Given the description of an element on the screen output the (x, y) to click on. 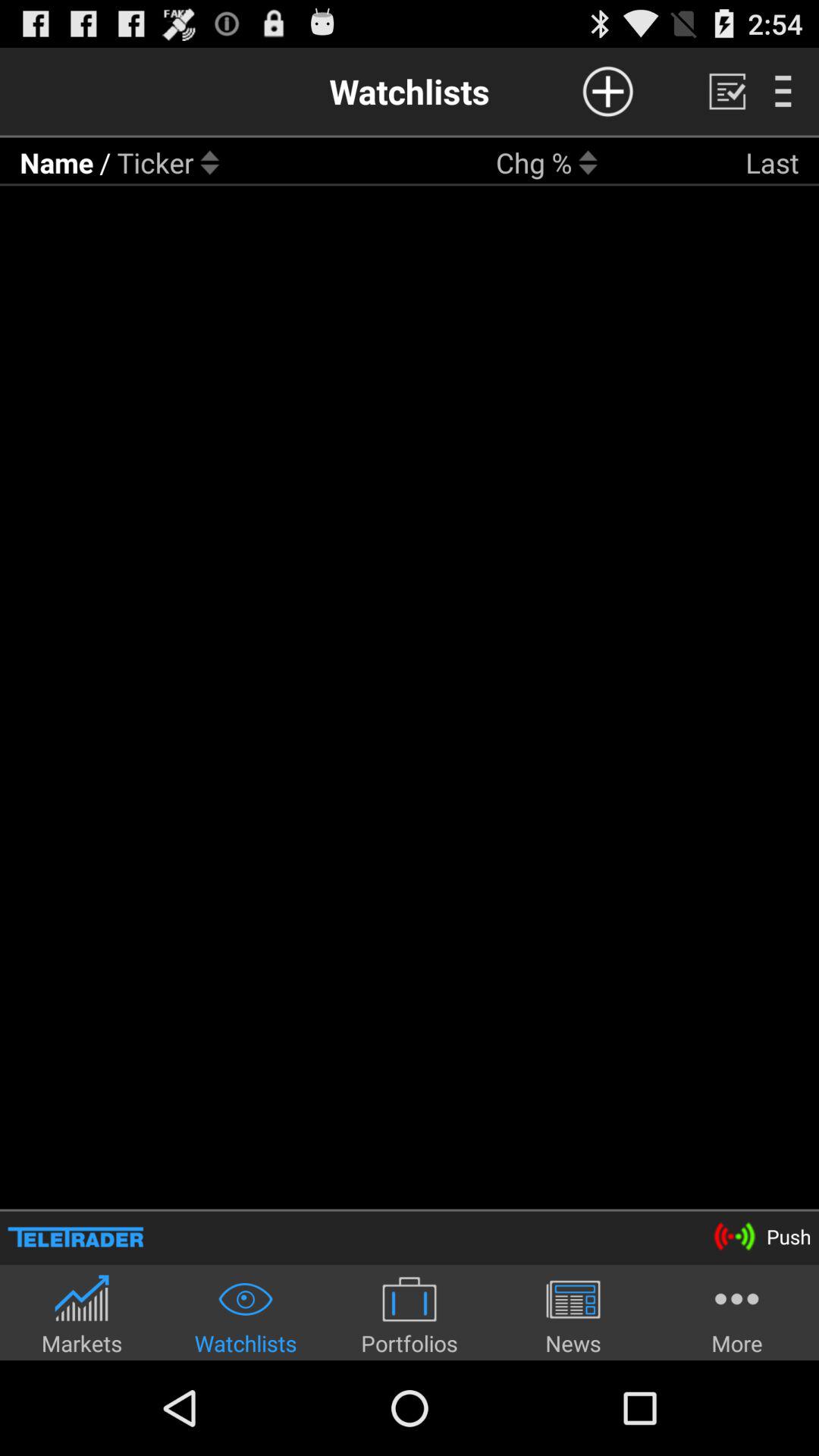
tap the icon to the left of push icon (75, 1236)
